Given the description of an element on the screen output the (x, y) to click on. 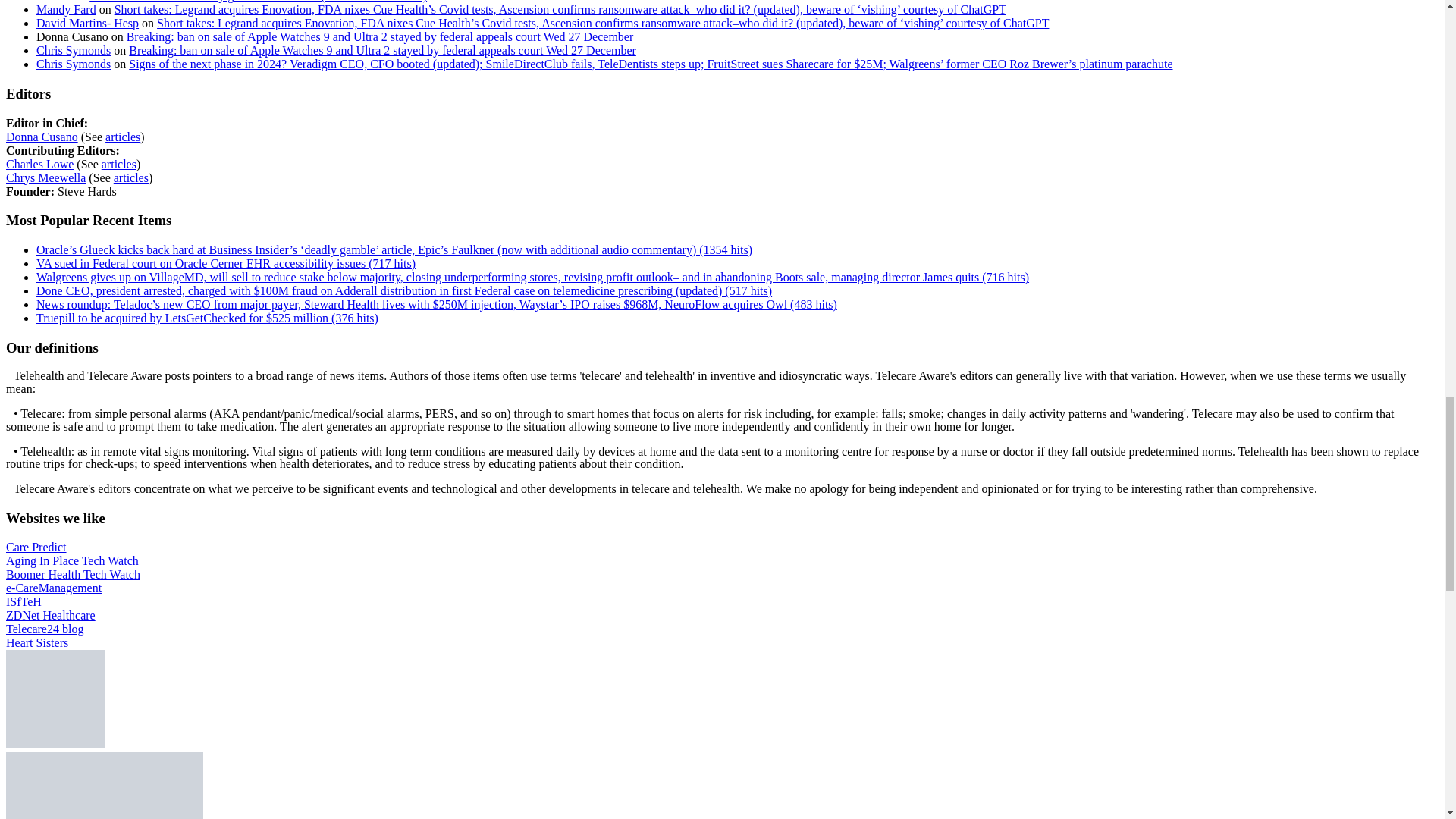
e-CareManagement (53, 587)
Heart Sisters (36, 642)
Care Predict (35, 546)
ISfTeH (23, 601)
Boomer Health Tech Watch (72, 574)
TTA on Twitter (54, 744)
telecare24 blog (43, 628)
ZDNet Healthcare (50, 615)
Laurie Orlov's Aging In Place Tech Watch (71, 560)
